Given the description of an element on the screen output the (x, y) to click on. 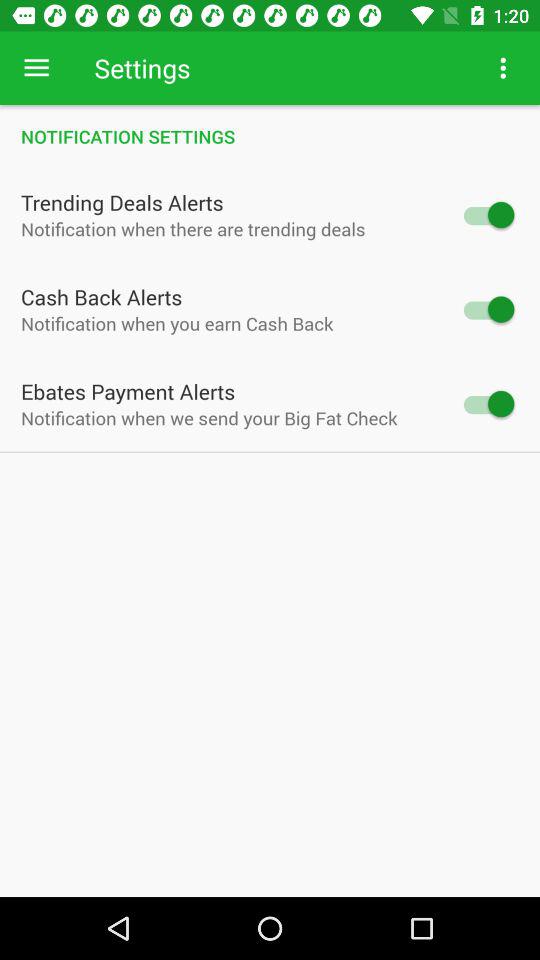
turn on notification settings item (270, 136)
